Given the description of an element on the screen output the (x, y) to click on. 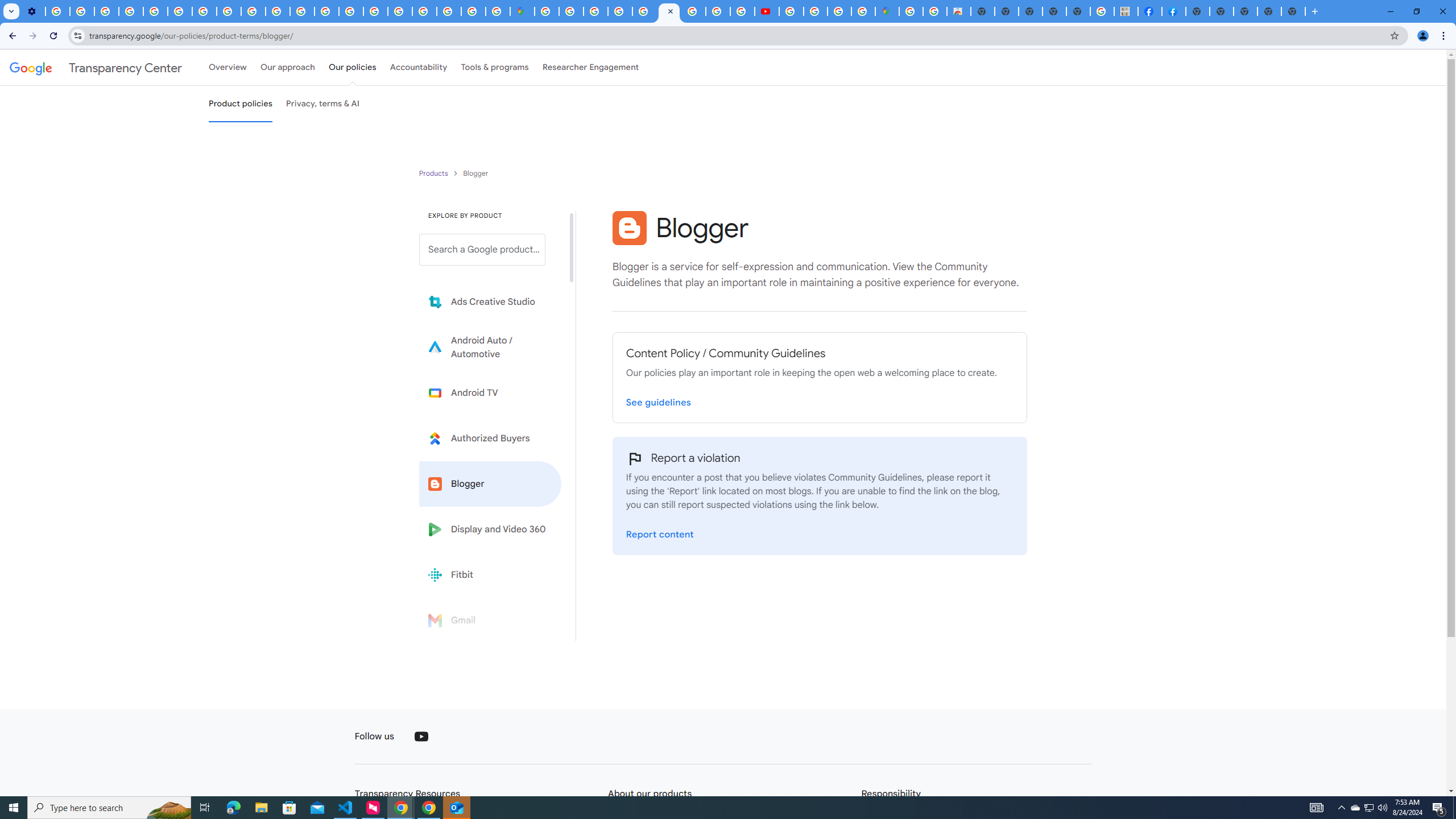
Fitbit (490, 574)
Blogger (490, 483)
Learn more about Authorized Buyers (490, 438)
Sign in - Google Accounts (546, 11)
Privacy Help Center - Policies Help (325, 11)
YouTube (421, 736)
Sign Up for Facebook (1174, 11)
Sign in - Google Accounts (570, 11)
New Tab (1293, 11)
